Given the description of an element on the screen output the (x, y) to click on. 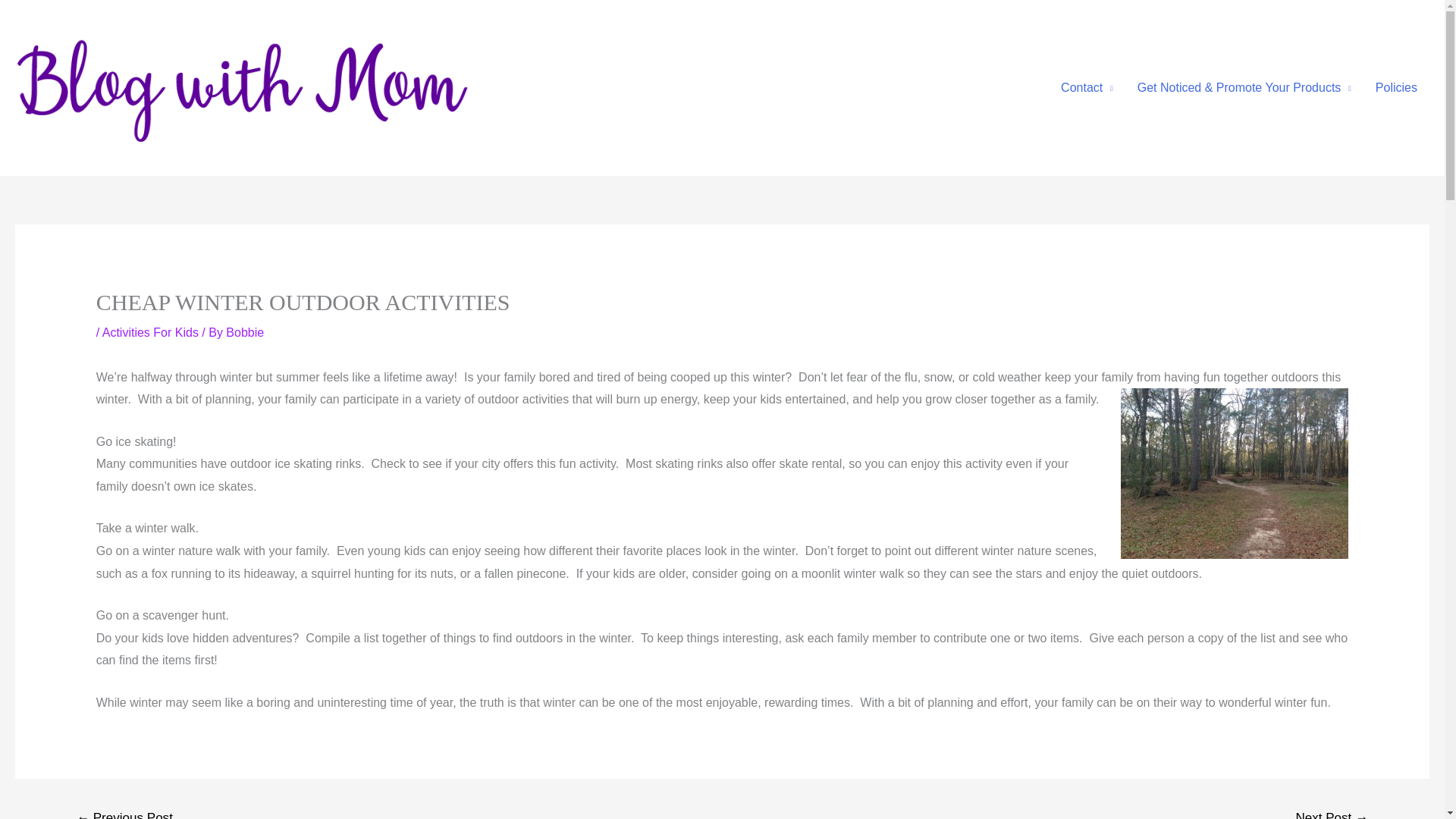
Bobbie (244, 332)
View all posts by Bobbie (244, 332)
Contact (1086, 87)
Activities For Kids (149, 332)
Policies (1395, 87)
